Given the description of an element on the screen output the (x, y) to click on. 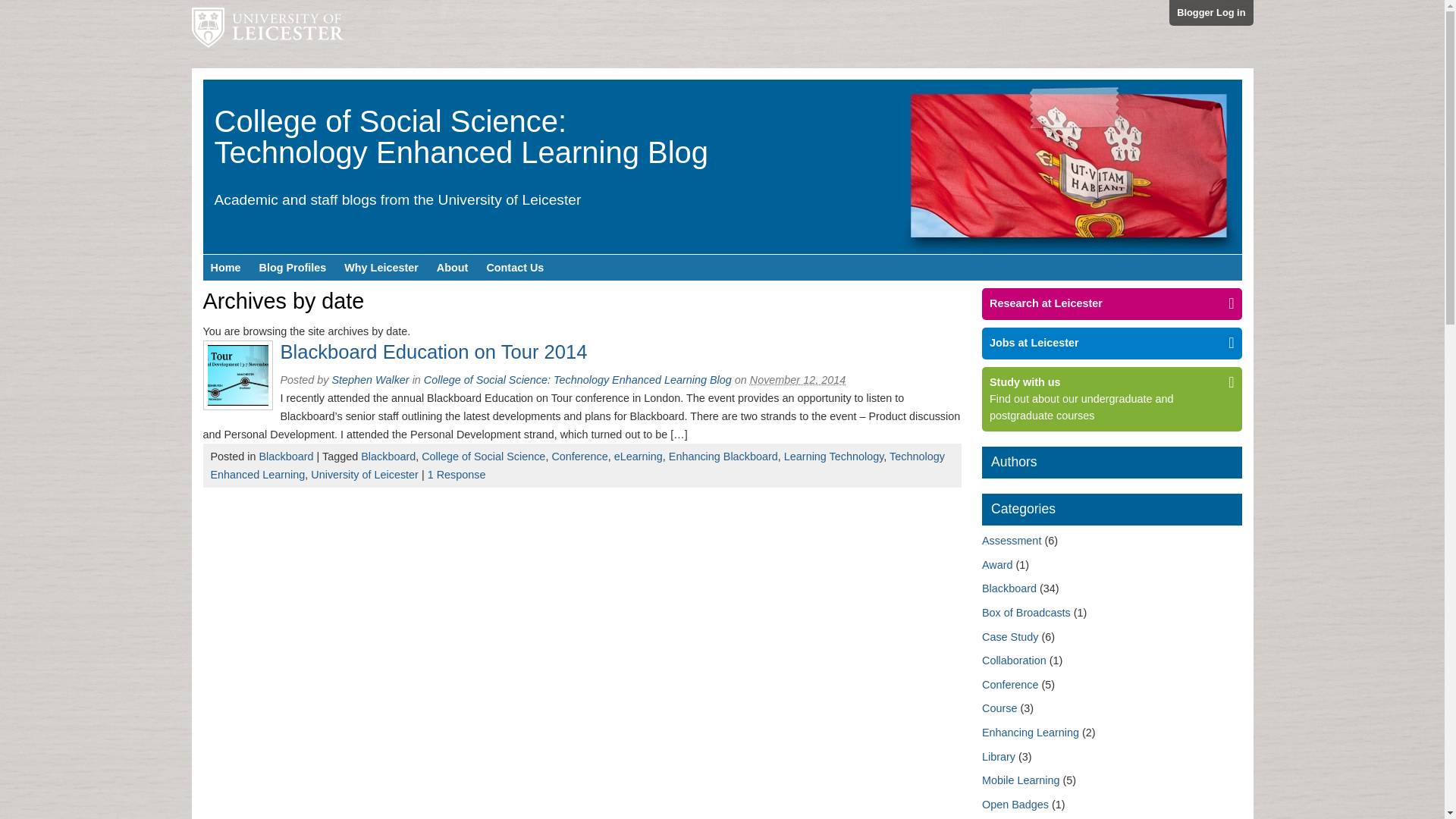
Collaboration (1013, 660)
Library (997, 756)
Conference (579, 456)
Technology Enhanced Learning (577, 465)
Blackboard Education on Tour 2014 (434, 351)
Open Badges (1014, 804)
eLearning (638, 456)
Wednesday, November 12th, 2014, 12:35 pm (797, 379)
University of Leicester (266, 33)
Blogger Log in (1210, 12)
